Given the description of an element on the screen output the (x, y) to click on. 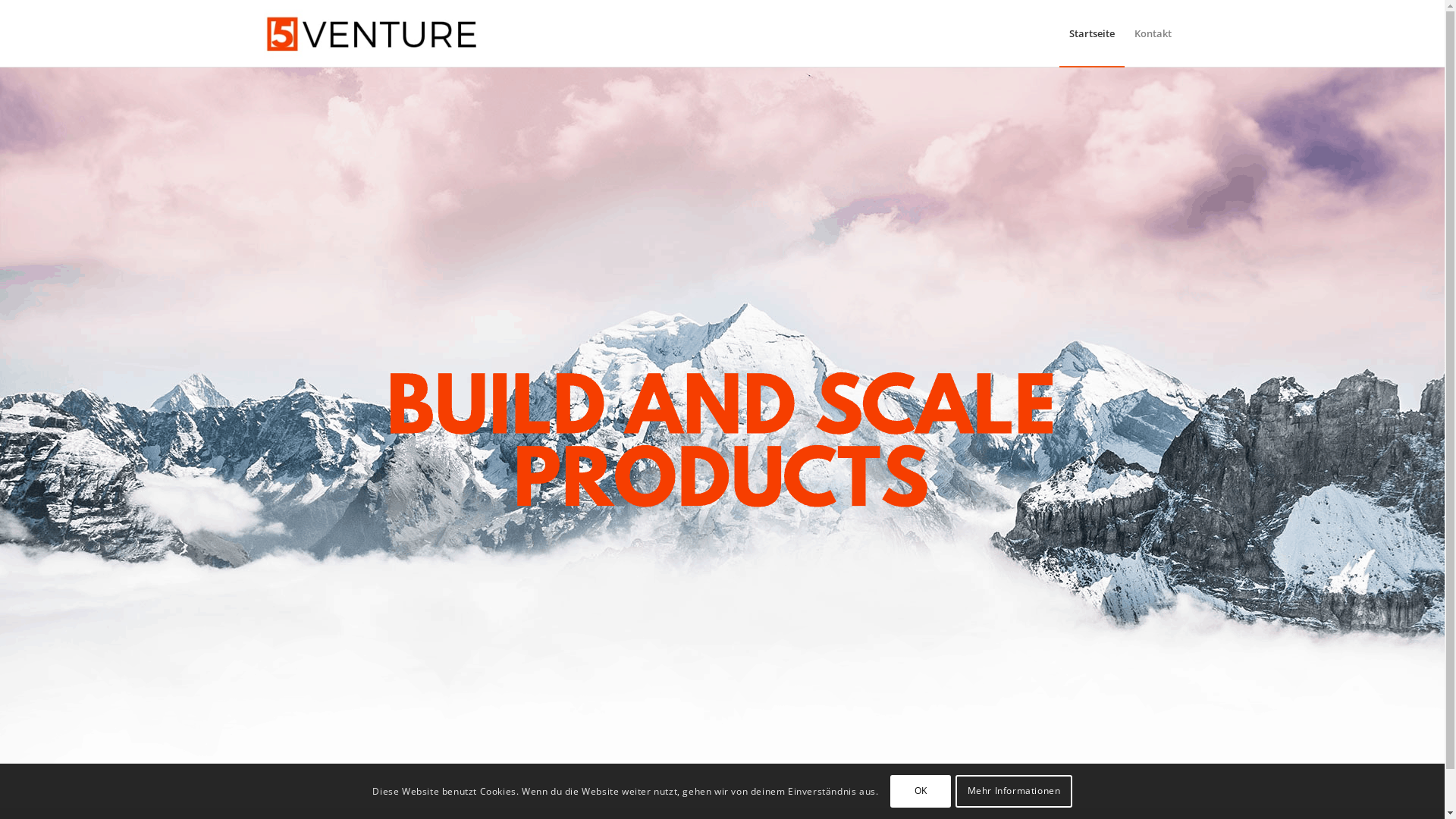
Kontakt Element type: text (1151, 33)
Mehr Informationen Element type: text (1013, 790)
Startseite Element type: text (1090, 33)
solgan Element type: hover (722, 443)
OK Element type: text (920, 790)
